Given the description of an element on the screen output the (x, y) to click on. 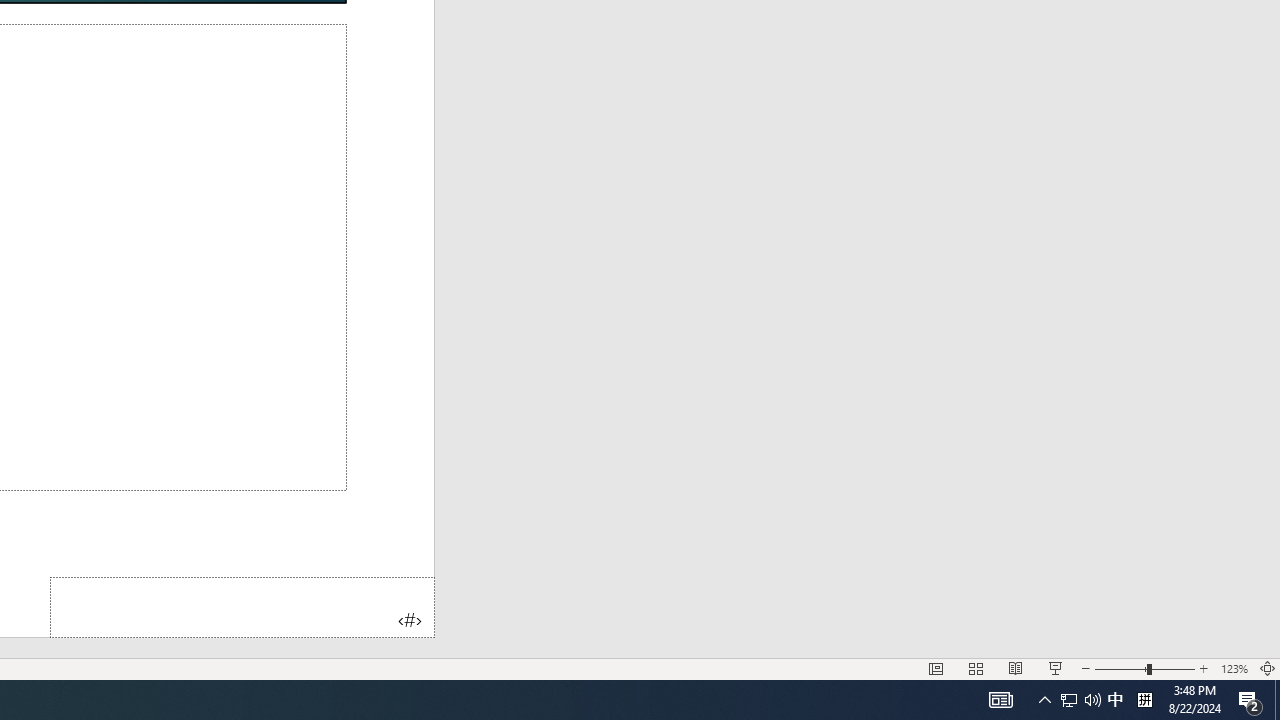
Page Number (242, 606)
Zoom 123% (1234, 668)
